Given the description of an element on the screen output the (x, y) to click on. 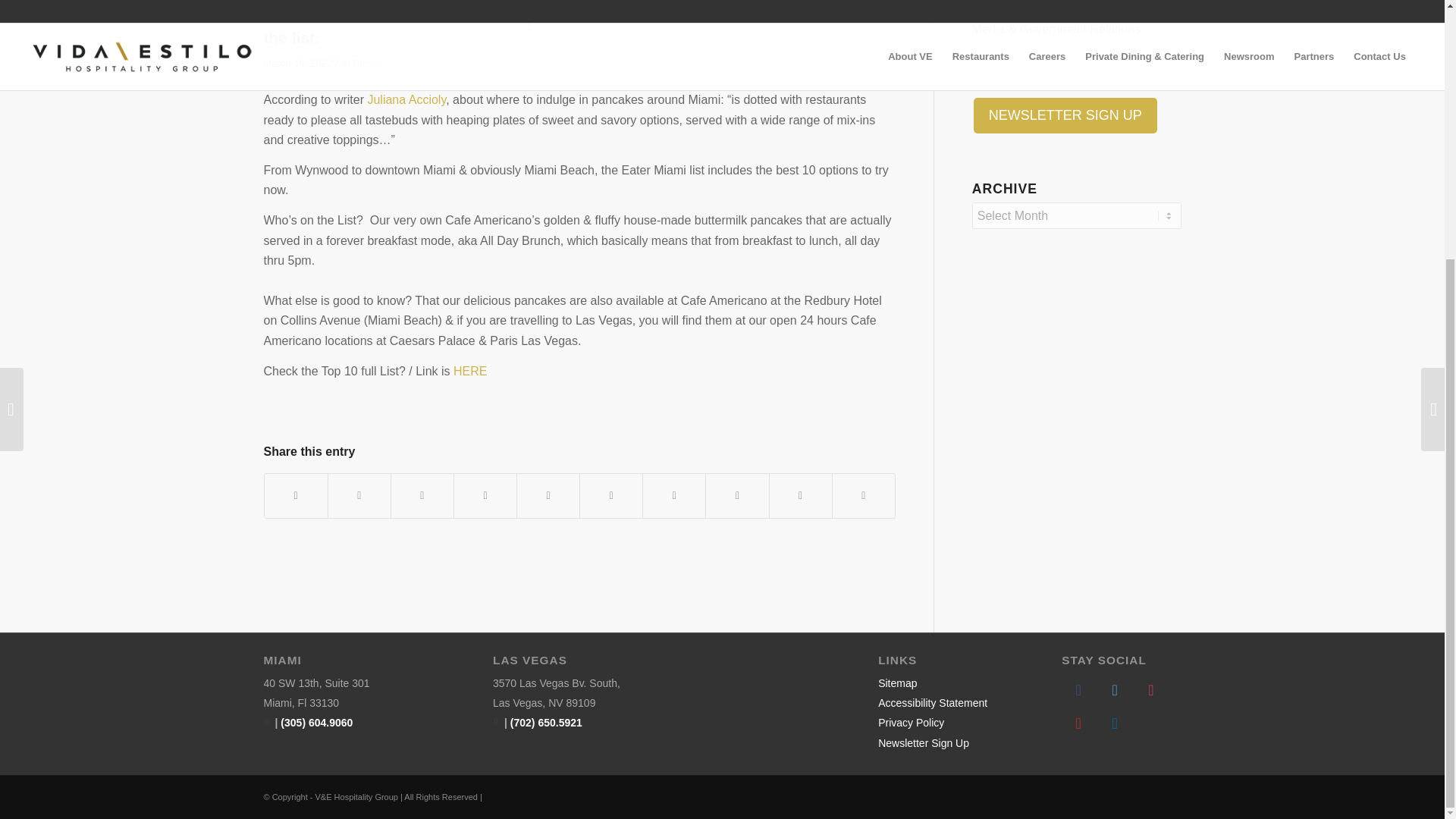
Sitemap (897, 683)
HERE (469, 370)
Press (364, 62)
Newsletter Sign Up (923, 743)
Privacy Policy (910, 722)
facebook (1078, 688)
NEWSLETTER SIGN UP (1065, 114)
Juliana Accioly (405, 99)
Accessibility Statement (932, 702)
twitter (1114, 688)
